Given the description of an element on the screen output the (x, y) to click on. 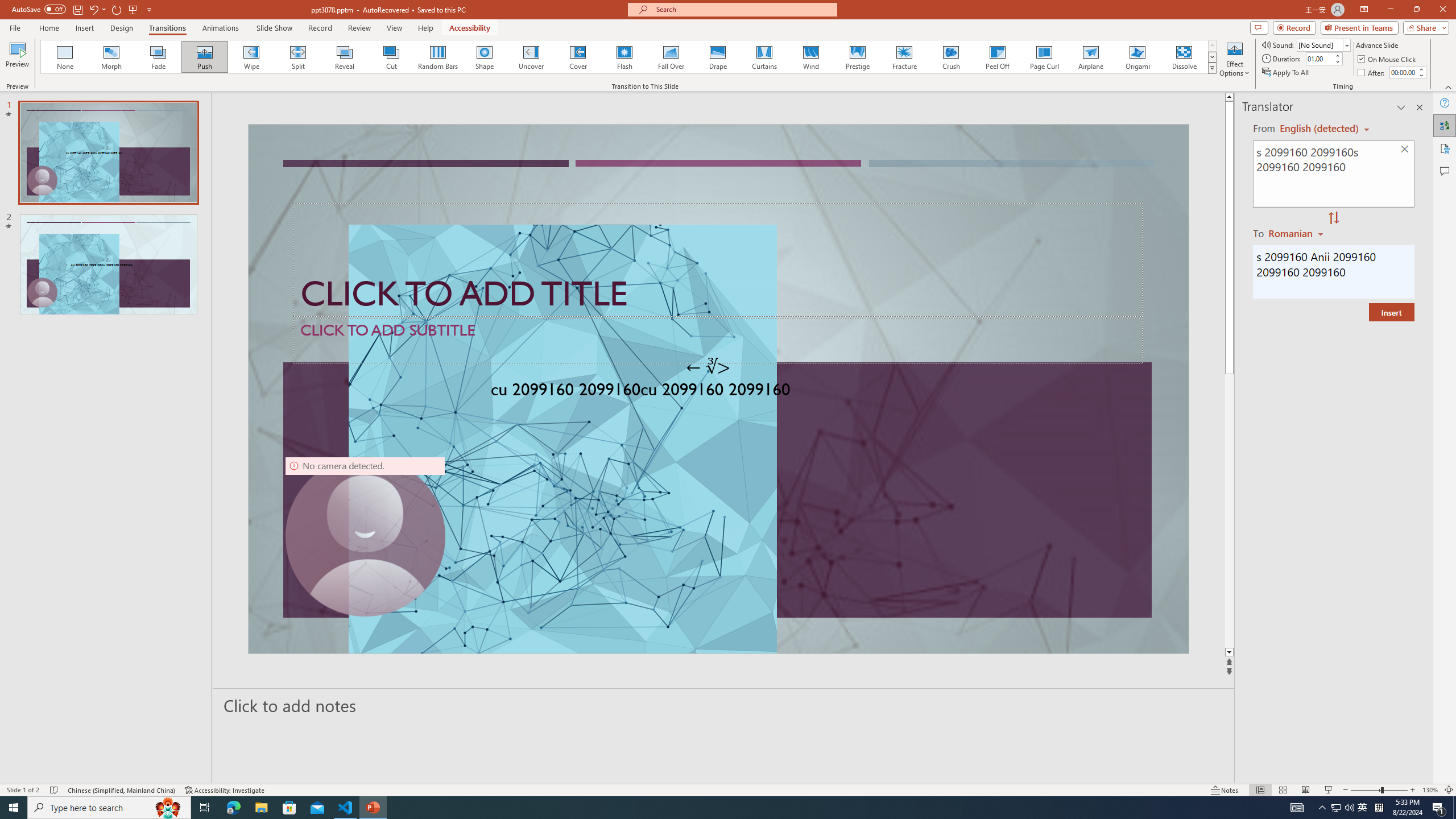
Peel Off (997, 56)
Airplane (1090, 56)
Origami (1136, 56)
AutomationID: AnimationTransitionGallery (628, 56)
Random Bars (437, 56)
Curtains (764, 56)
